Given the description of an element on the screen output the (x, y) to click on. 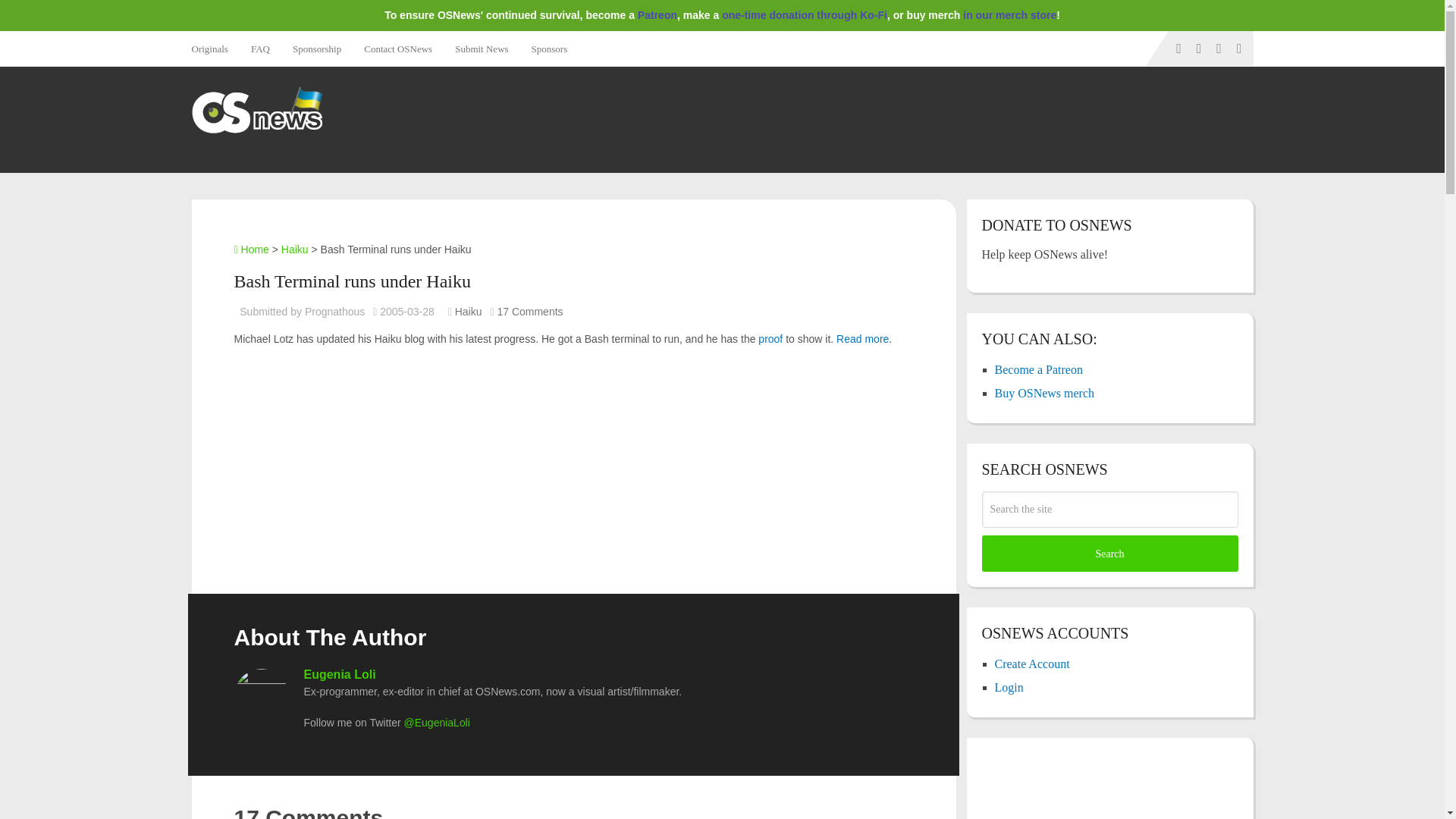
Haiku (467, 311)
Sponsorship (316, 48)
Haiku (294, 249)
View all posts in Haiku (467, 311)
Submit News (481, 48)
Originals (214, 48)
in our merch store (1009, 15)
 Home (249, 249)
Sponsors (549, 48)
one-time donation through Ko-Fi (804, 15)
